Given the description of an element on the screen output the (x, y) to click on. 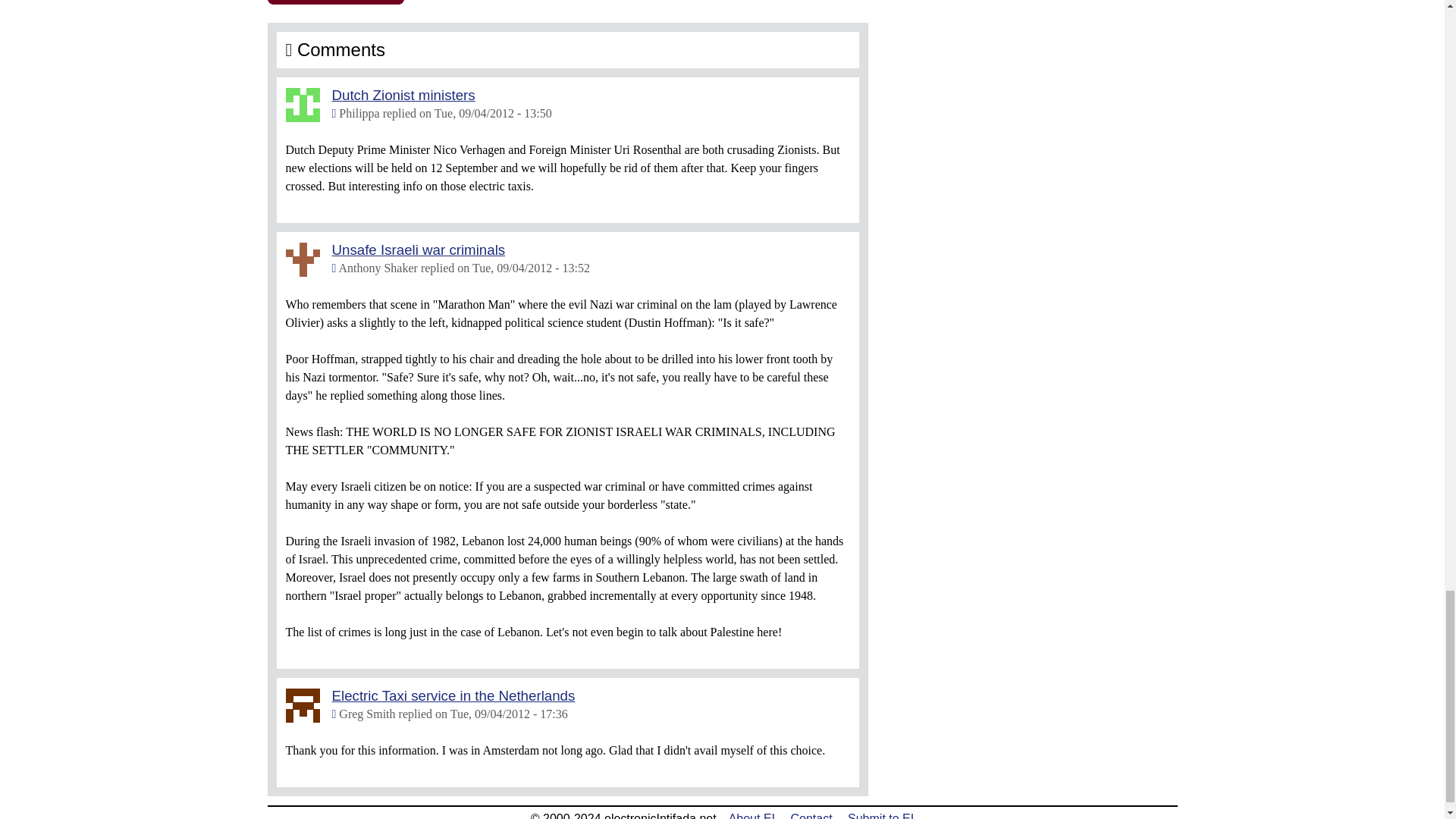
Dutch Zionist ministers (403, 94)
